Given the description of an element on the screen output the (x, y) to click on. 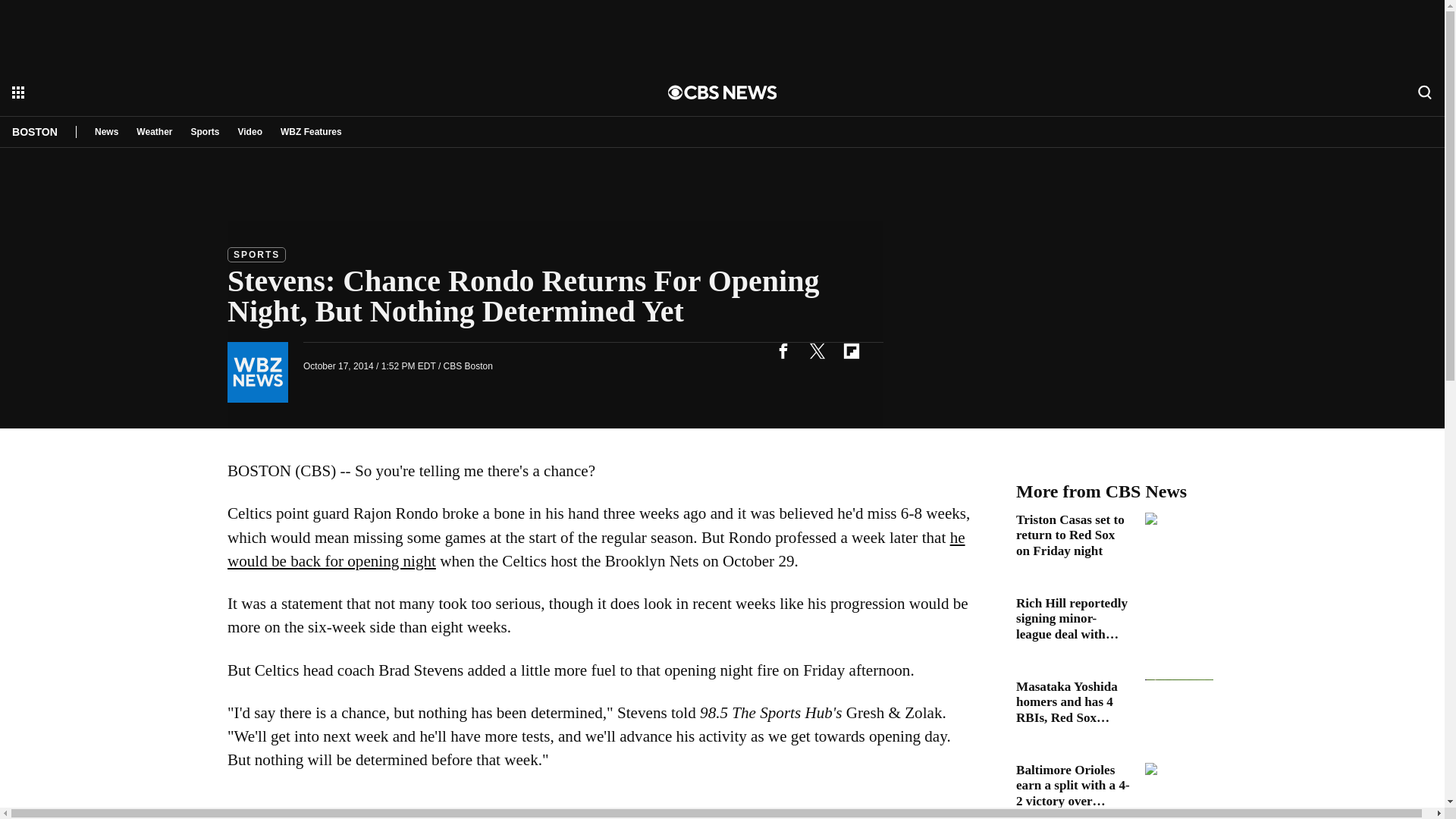
flipboard (850, 350)
twitter (816, 350)
facebook (782, 350)
